Given the description of an element on the screen output the (x, y) to click on. 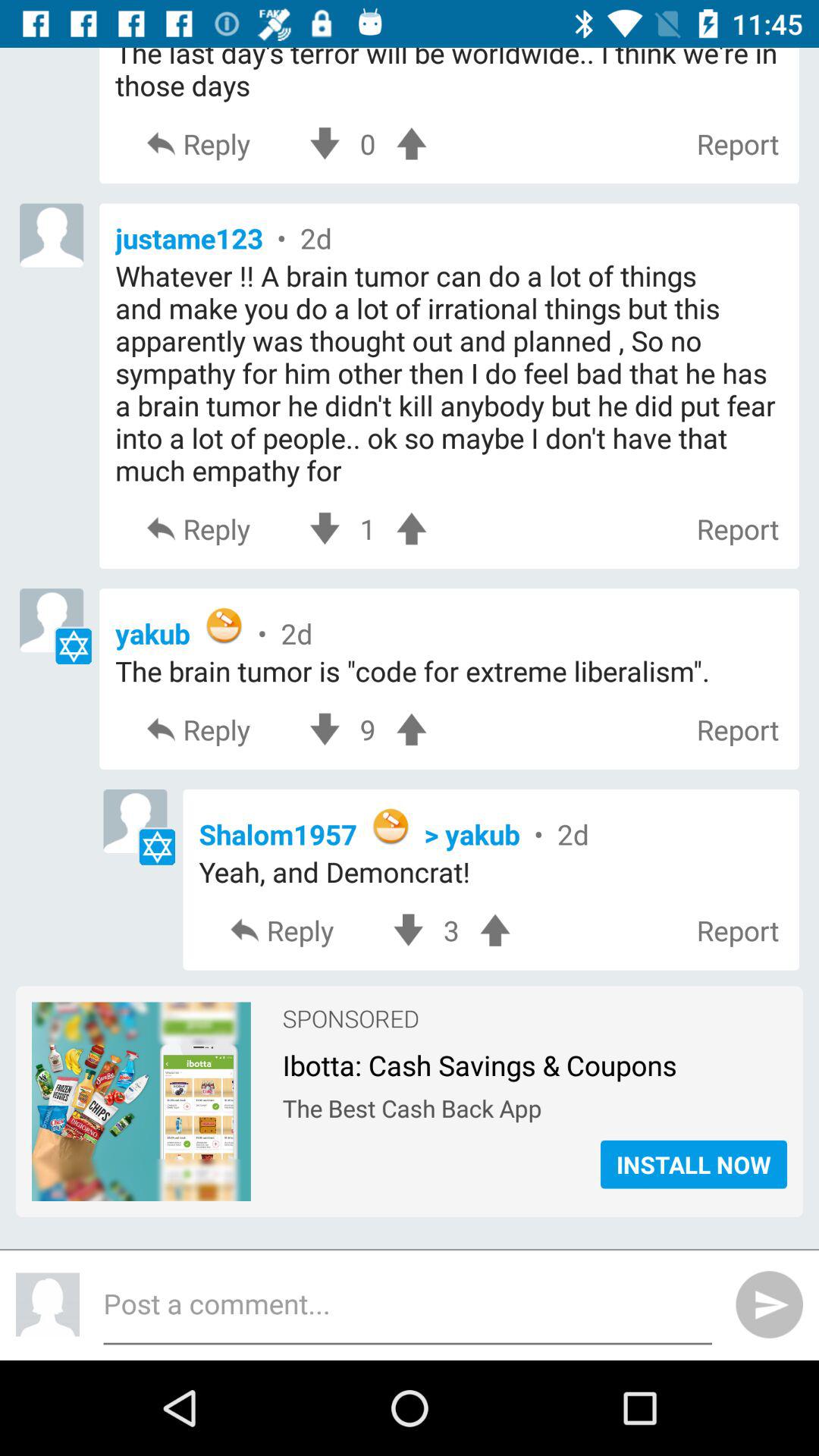
flip until the 3 icon (451, 930)
